Given the description of an element on the screen output the (x, y) to click on. 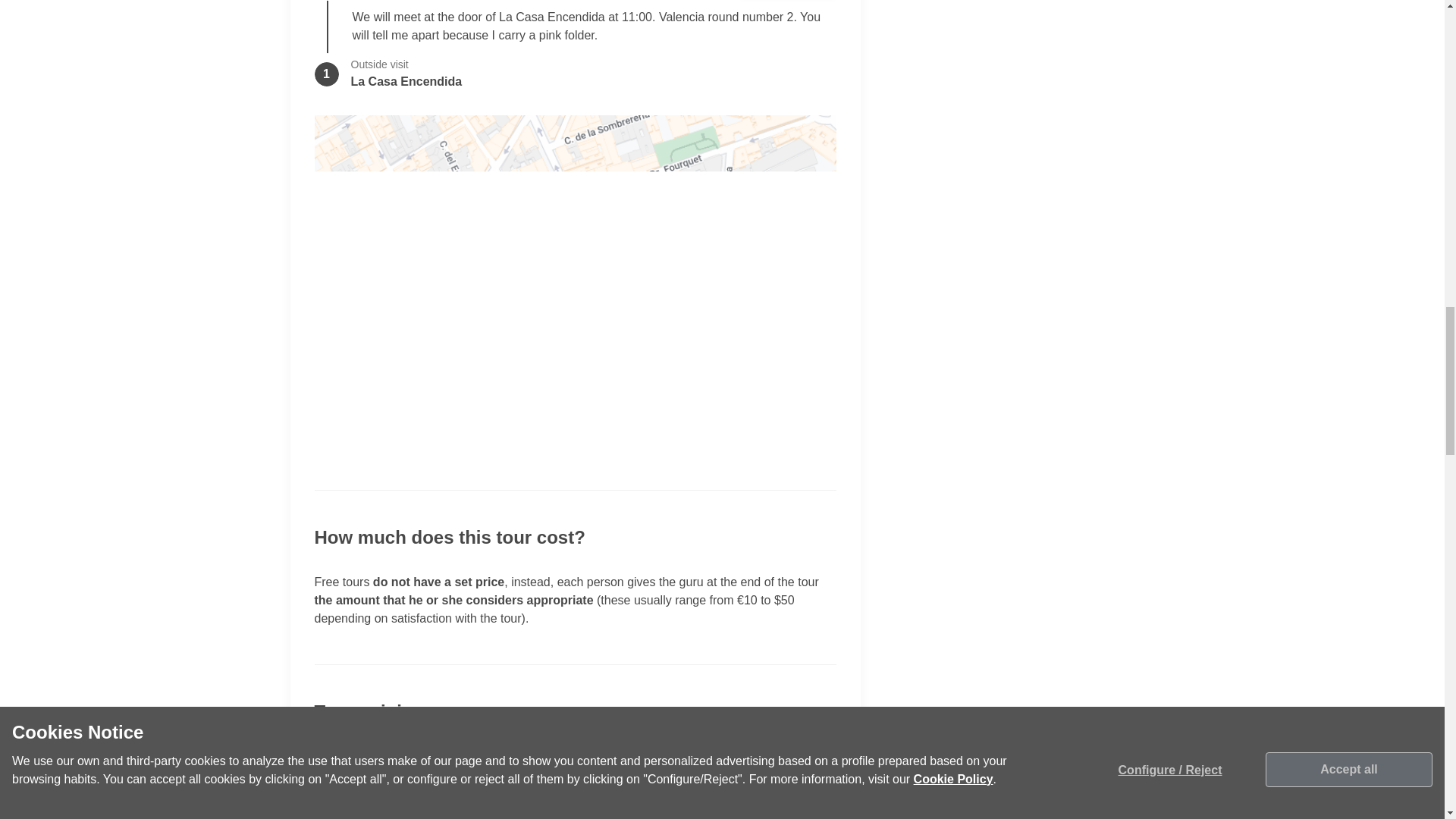
76 reviews (419, 749)
